Given the description of an element on the screen output the (x, y) to click on. 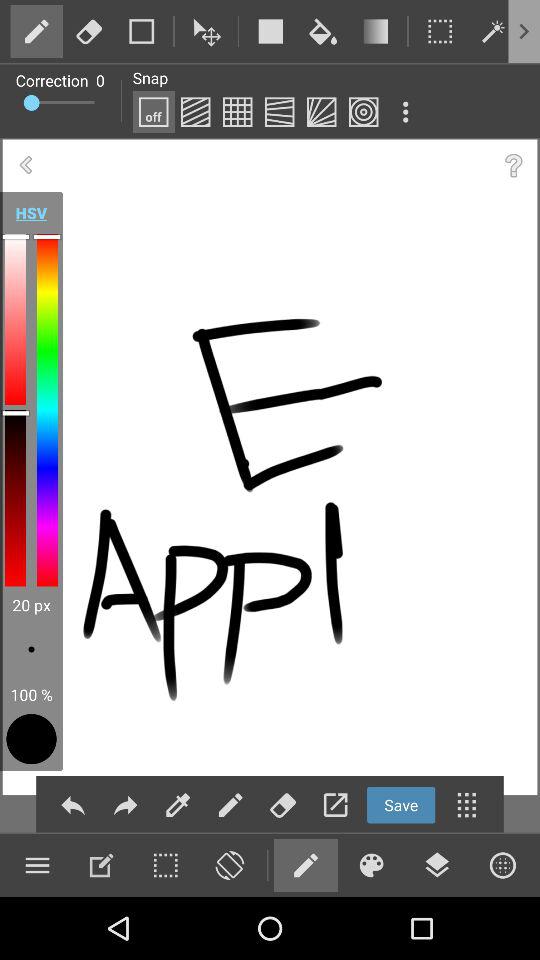
more (405, 112)
